Given the description of an element on the screen output the (x, y) to click on. 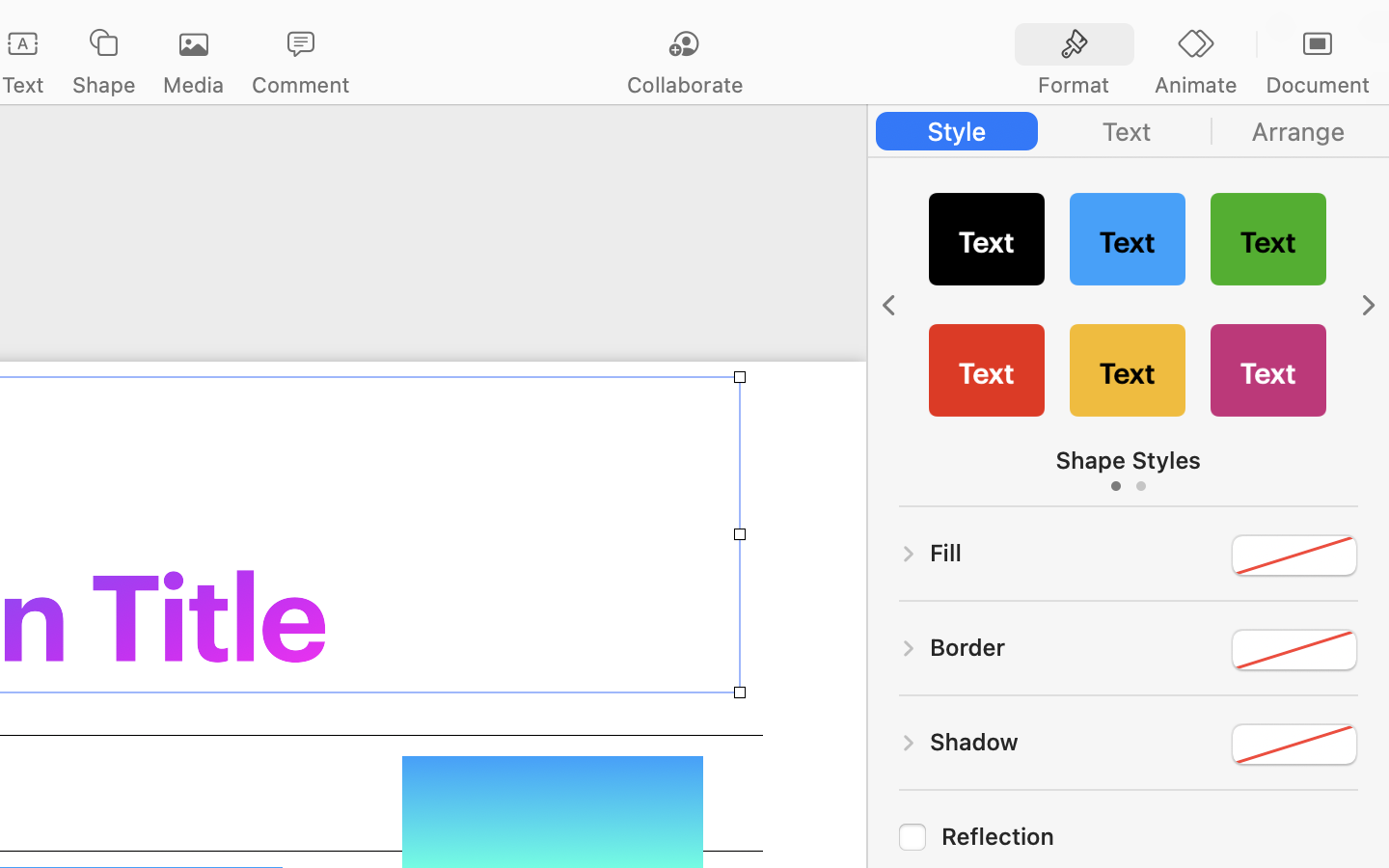
Animate Element type: AXStaticText (1194, 84)
Fill Element type: AXStaticText (946, 552)
Media Element type: AXStaticText (192, 84)
Document Element type: AXStaticText (1316, 84)
